Given the description of an element on the screen output the (x, y) to click on. 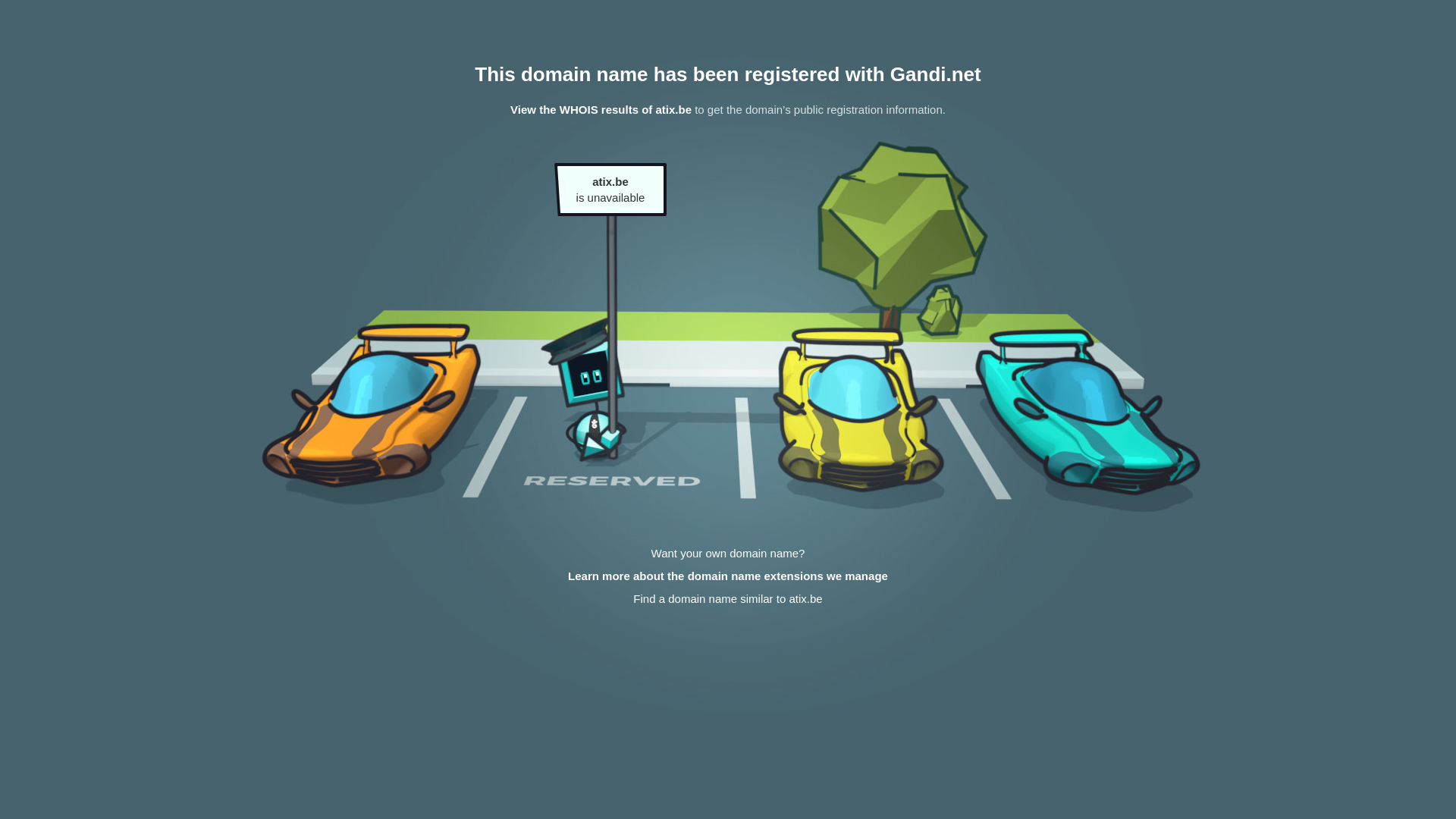
View the WHOIS results of atix.be Element type: text (600, 109)
Learn more about the domain name extensions we manage Element type: text (727, 575)
Find a domain name similar to atix.be Element type: text (727, 598)
